Given the description of an element on the screen output the (x, y) to click on. 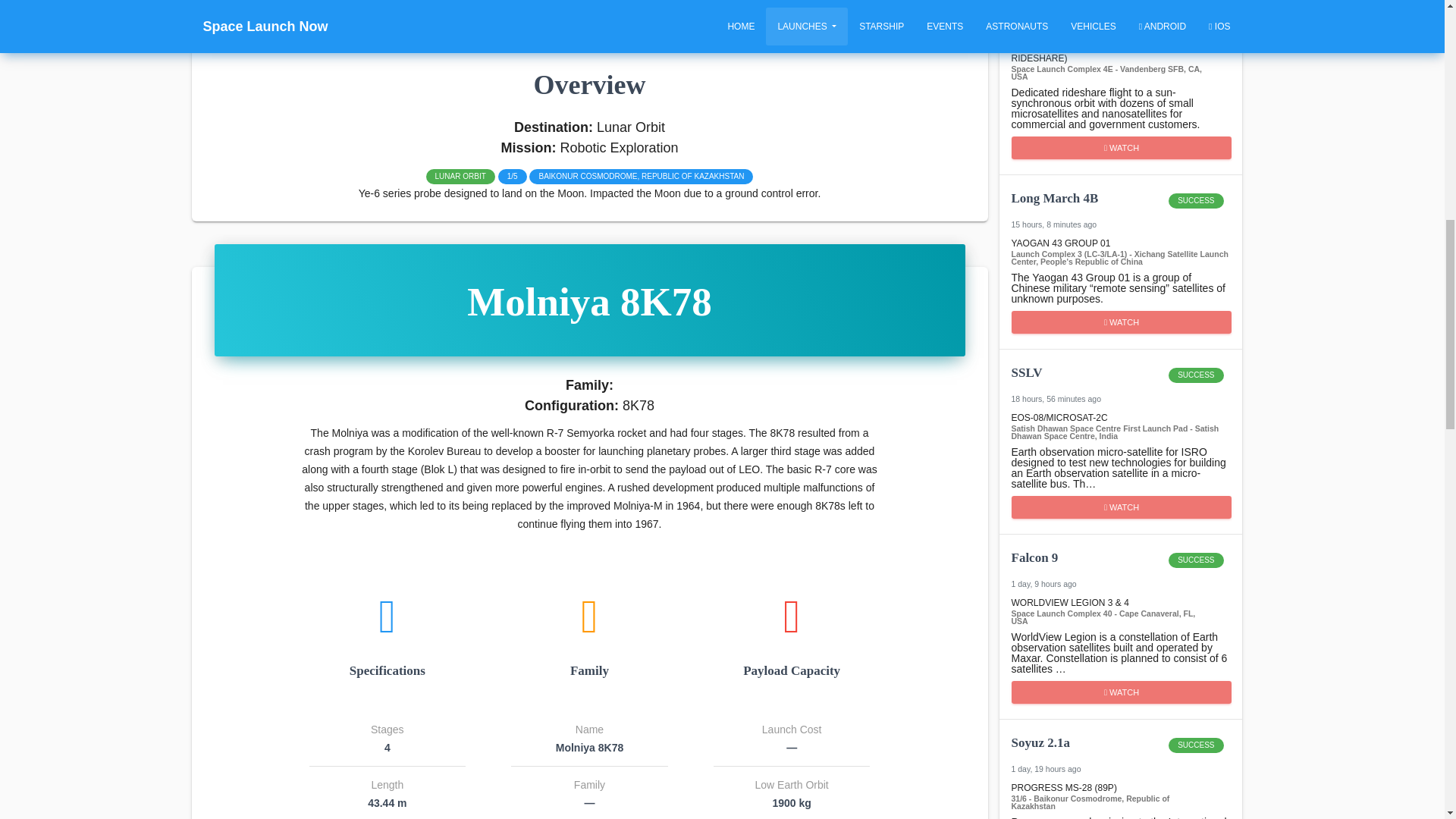
WATCH (1119, 567)
WATCH (1119, 208)
WATCH (1119, 752)
WATCH (1119, 15)
